Given the description of an element on the screen output the (x, y) to click on. 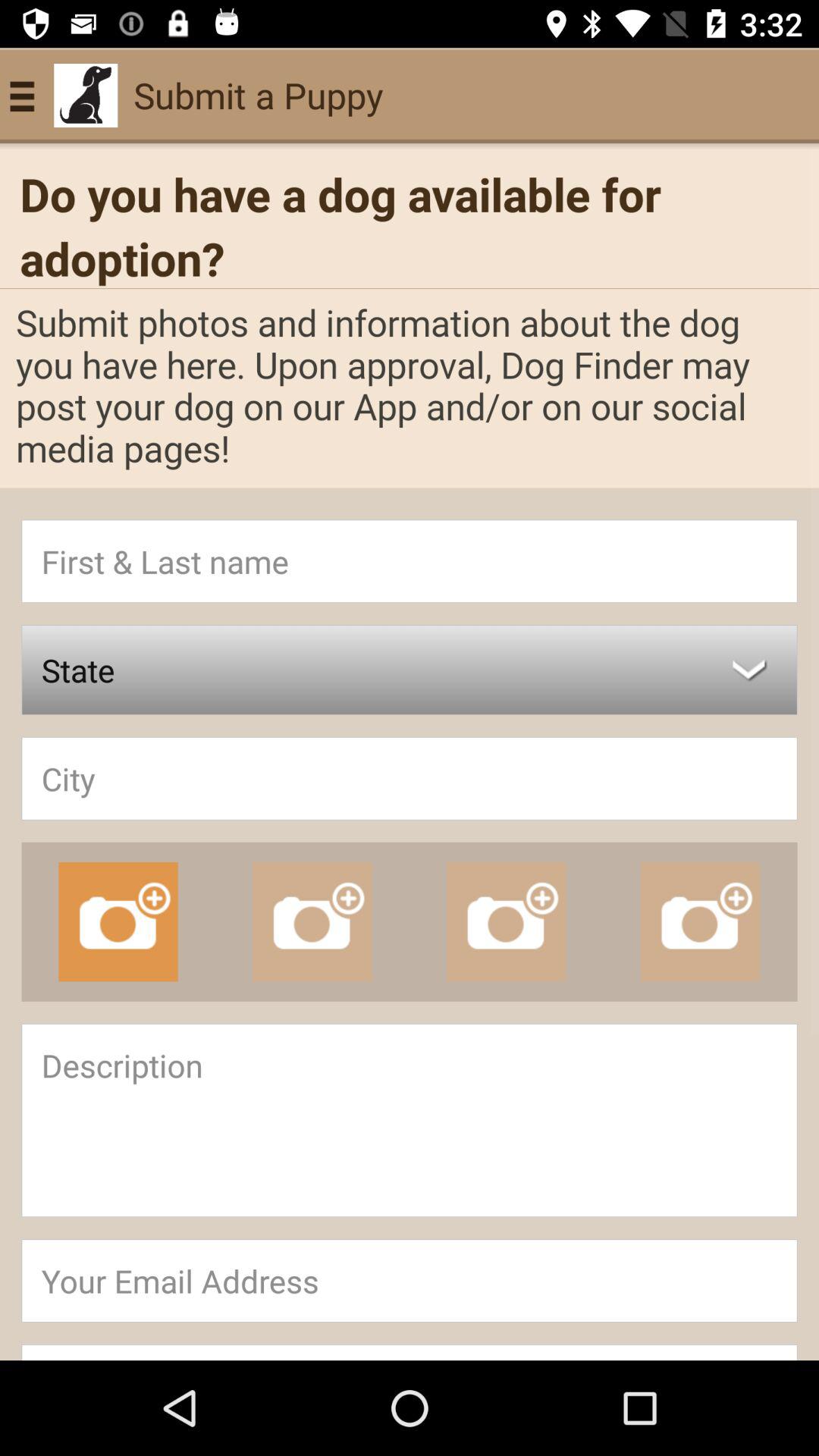
swipe until the state app (409, 669)
